Given the description of an element on the screen output the (x, y) to click on. 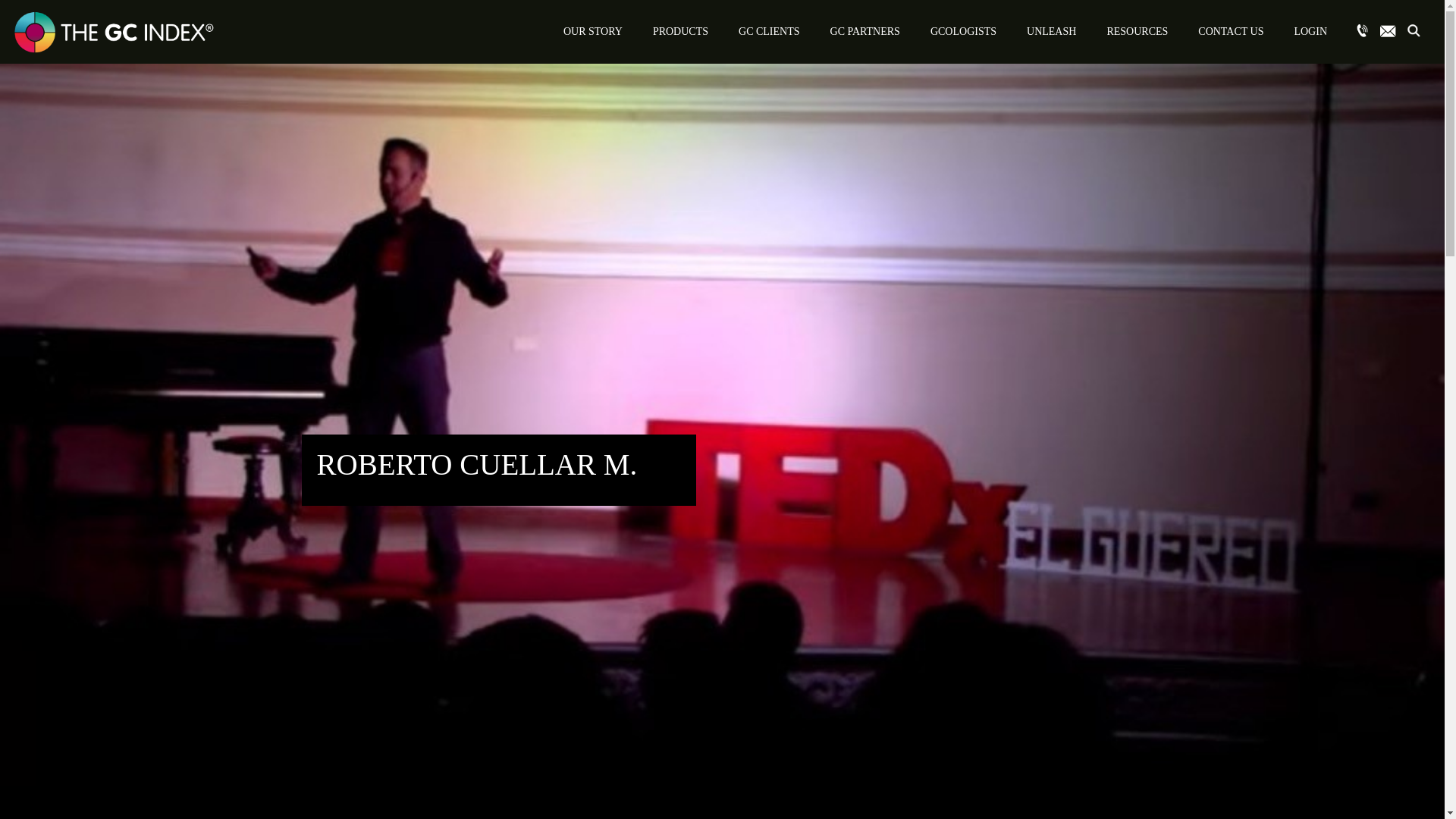
GC CLIENTS (769, 31)
OUR STORY (592, 31)
UNLEASH (1050, 31)
GC PARTNERS (865, 31)
PRODUCTS (680, 31)
GCOLOGISTS (963, 31)
GC Platform (1310, 31)
